Given the description of an element on the screen output the (x, y) to click on. 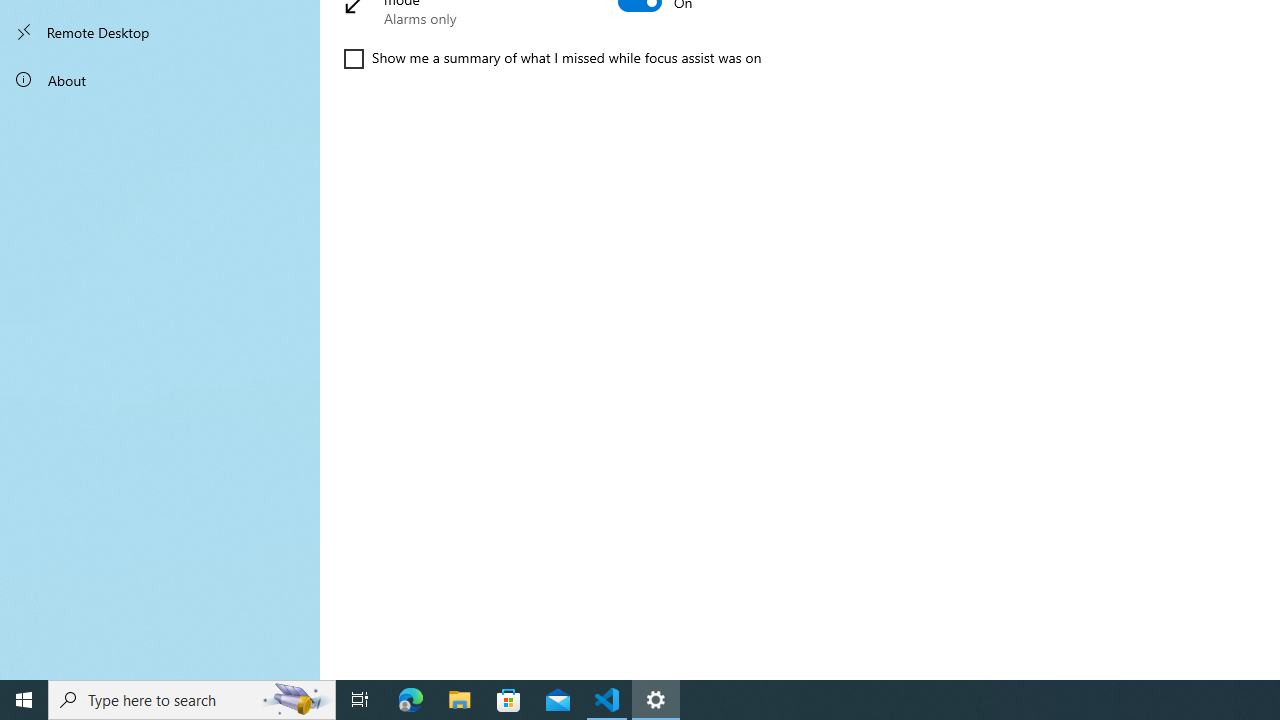
File Explorer (460, 699)
Remote Desktop (160, 31)
Start (24, 699)
Visual Studio Code - 1 running window (607, 699)
About (160, 79)
Settings - 1 running window (656, 699)
Show me a summary of what I missed while focus assist was on (552, 58)
Task View (359, 699)
Microsoft Store (509, 699)
Type here to search (191, 699)
Microsoft Edge (411, 699)
Search highlights icon opens search home window (295, 699)
